Given the description of an element on the screen output the (x, y) to click on. 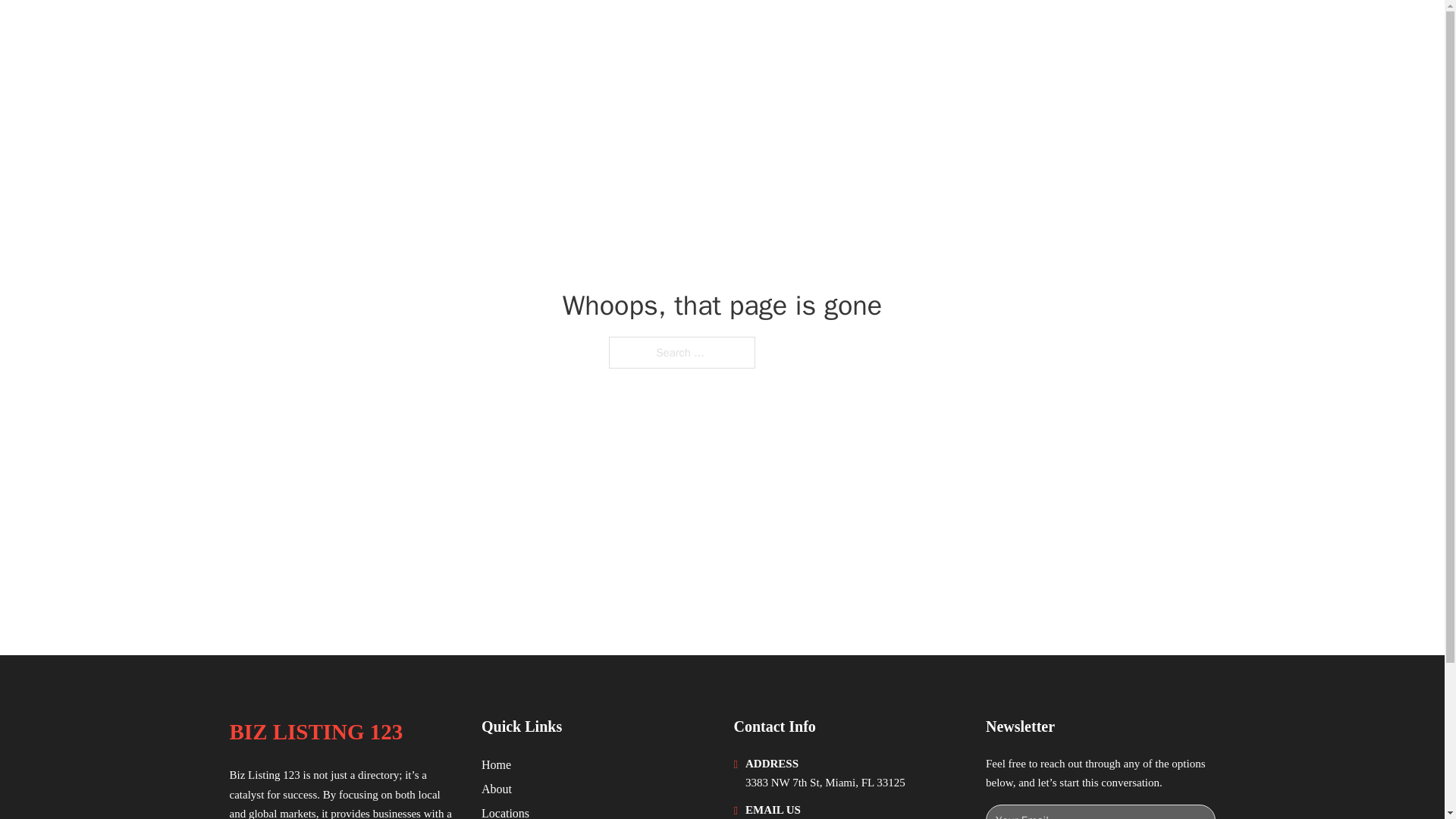
LOCATIONS (1098, 31)
About (496, 788)
Home (496, 764)
HOME (1025, 31)
BIZ LISTING 123 (315, 732)
BIZ LISTING 123 (324, 31)
Locations (505, 811)
